Given the description of an element on the screen output the (x, y) to click on. 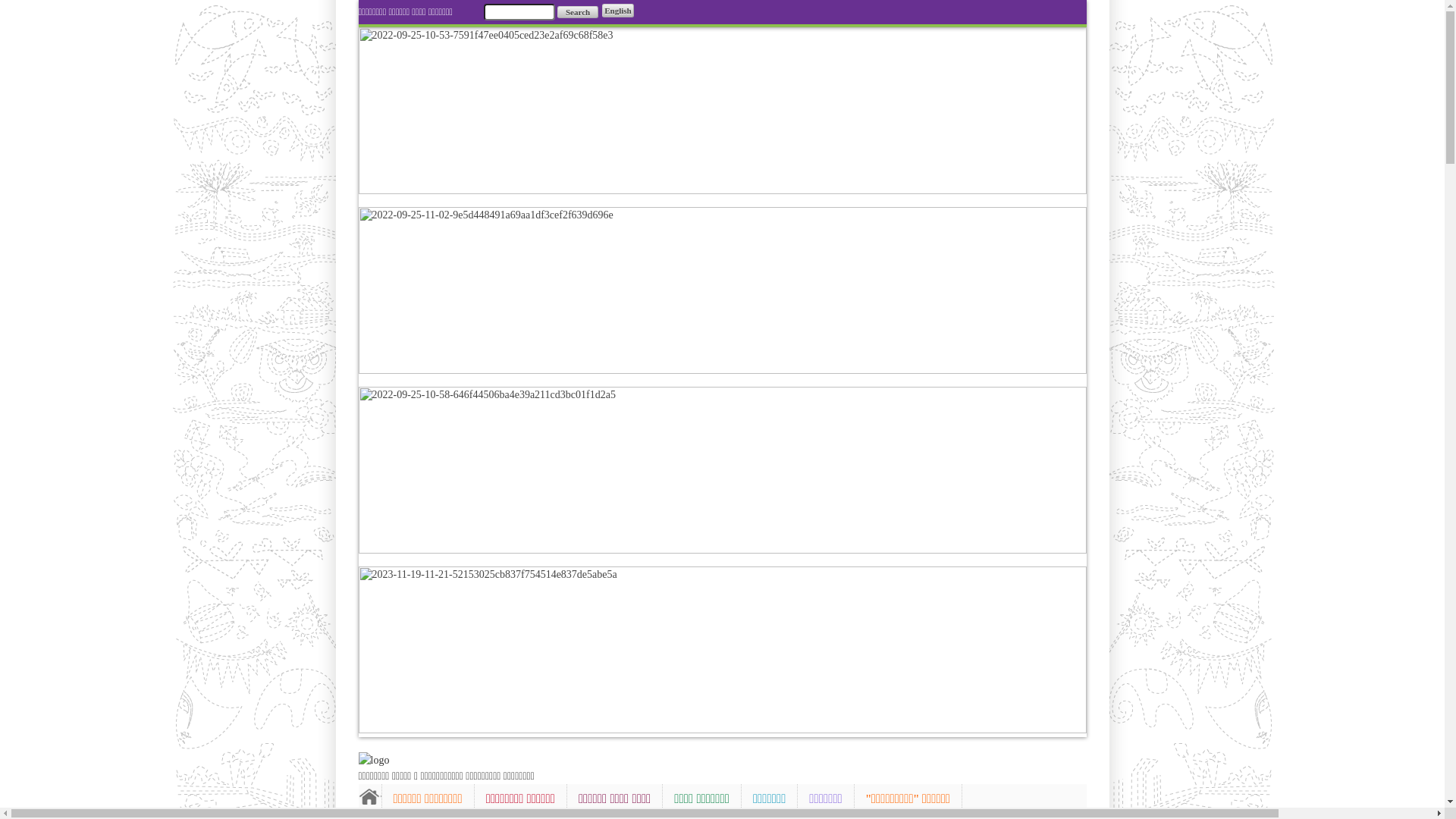
English Element type: text (617, 10)
Search Element type: text (577, 12)

					
				 Element type: hover (373, 759)
